Given the description of an element on the screen output the (x, y) to click on. 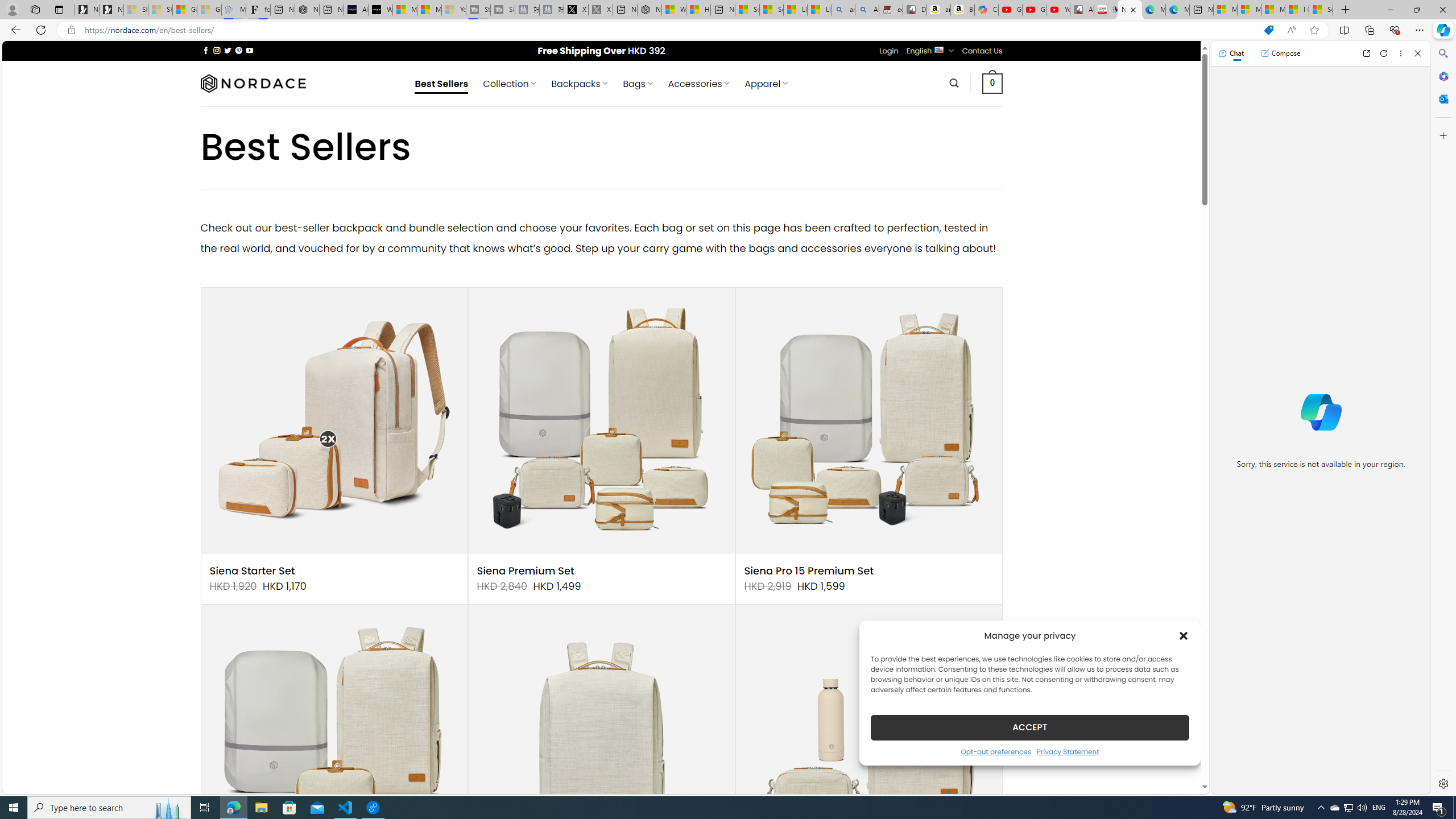
 Best Sellers (441, 83)
Siena Pro 15 Premium Set (808, 571)
English (938, 49)
